Given the description of an element on the screen output the (x, y) to click on. 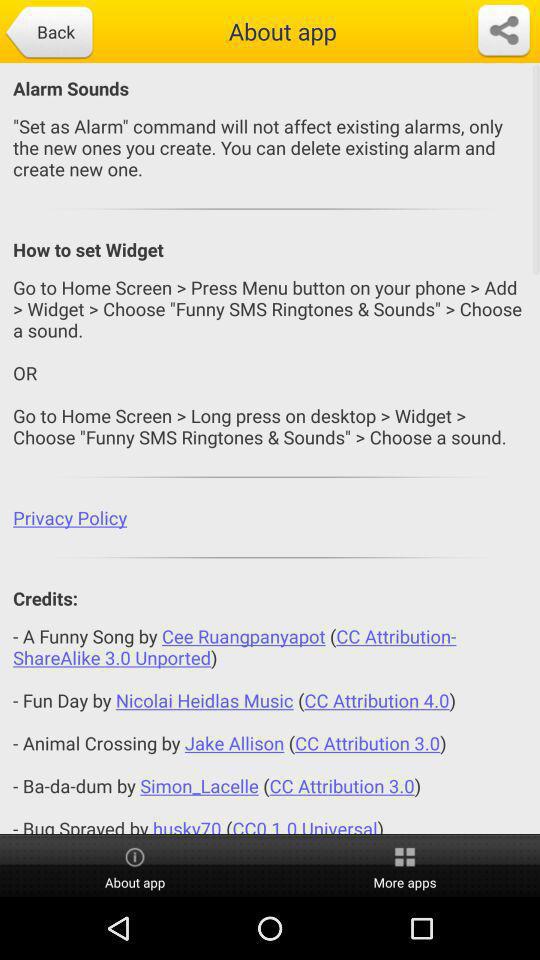
select the item to the right of about app icon (405, 866)
